Given the description of an element on the screen output the (x, y) to click on. 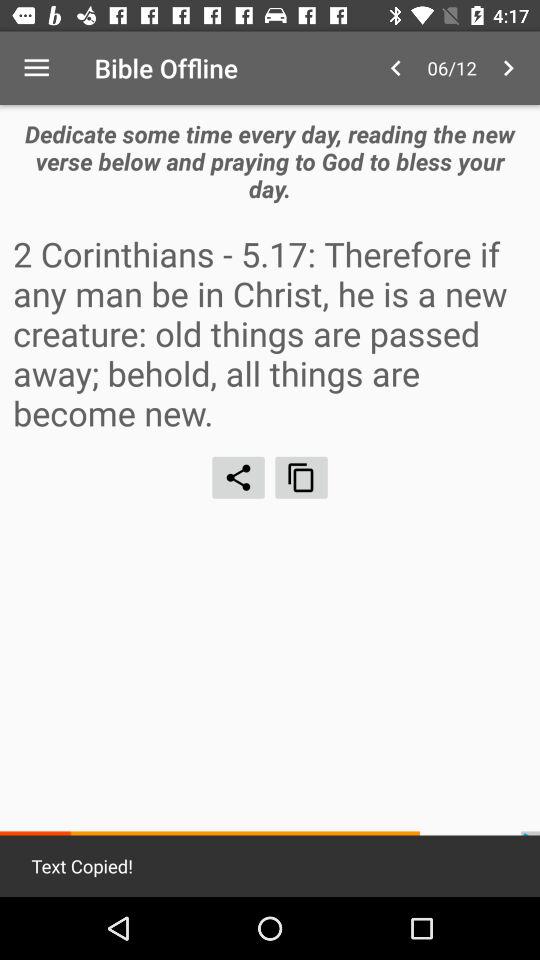
turn on icon above dedicate some time item (508, 67)
